Given the description of an element on the screen output the (x, y) to click on. 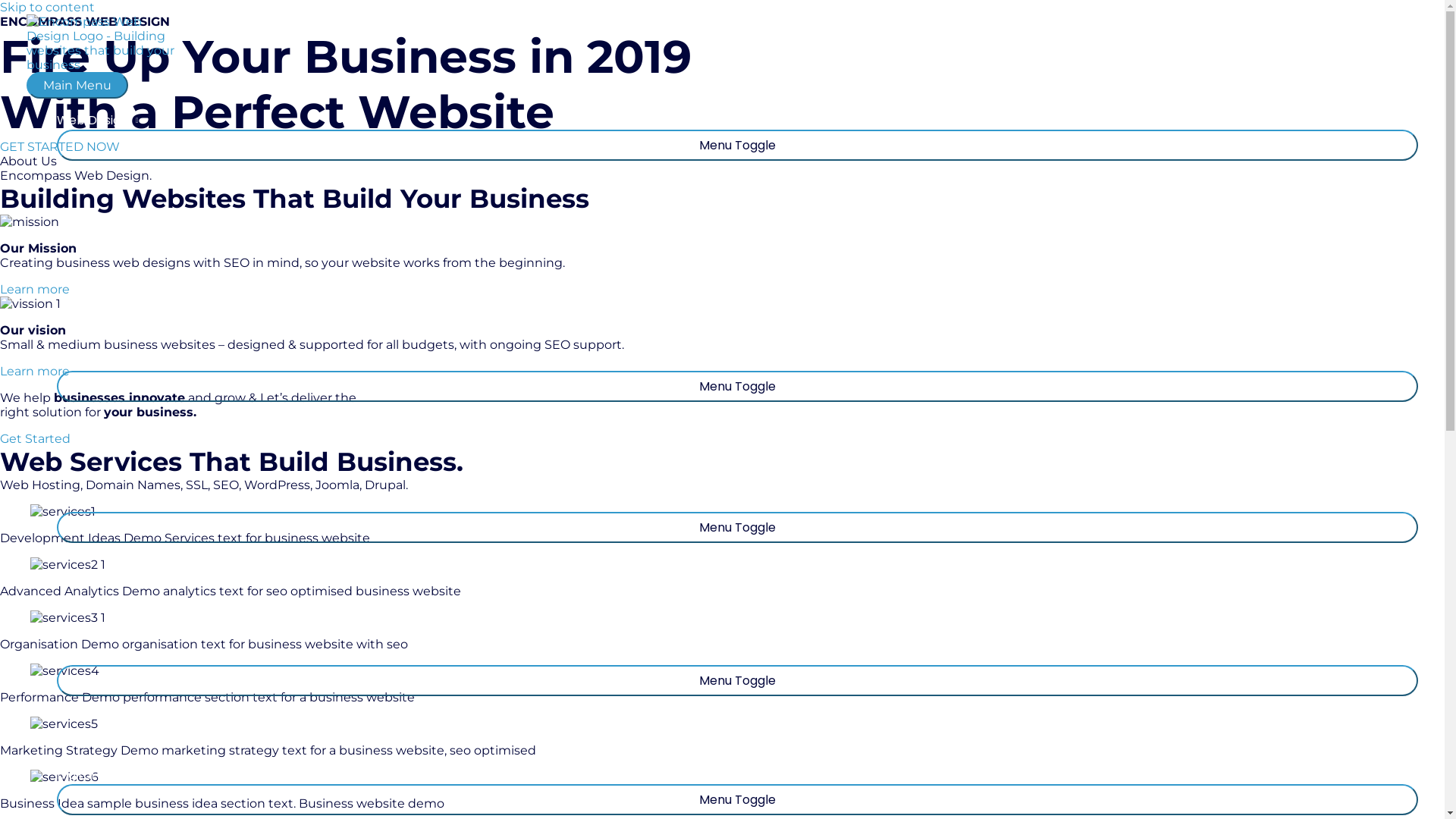
Skip to content Element type: text (47, 7)
Get Started Element type: text (35, 438)
Learn more Element type: text (34, 371)
Main Menu Element type: text (77, 85)
Web Design for a Small Office Business 3 Element type: hover (62, 511)
Menu Toggle Element type: text (737, 799)
Web Design for a Small Office Business 7 Element type: hover (63, 723)
Digital Marketing Element type: text (737, 774)
Menu Toggle Element type: text (737, 680)
GET STARTED NOW Element type: text (59, 146)
Menu Toggle Element type: text (737, 144)
Web Design for a Small Office Business 8 Element type: hover (64, 776)
Web Design Element type: text (737, 119)
Web Design for a Small Office Business 4 Element type: hover (67, 564)
Web Design for a Small Office Business 5 Element type: hover (67, 617)
Web Services Element type: text (737, 655)
Web Design for a Small Office Business 1 Element type: hover (29, 221)
Web Design for a Small Office Business 6 Element type: hover (64, 670)
Web Design for a Small Office Business 2 Element type: hover (30, 303)
Learn more Element type: text (34, 289)
Menu Toggle Element type: text (737, 526)
Graphic Design Element type: text (737, 501)
Menu Toggle Element type: text (737, 385)
SEO Services Element type: text (737, 360)
